Given the description of an element on the screen output the (x, y) to click on. 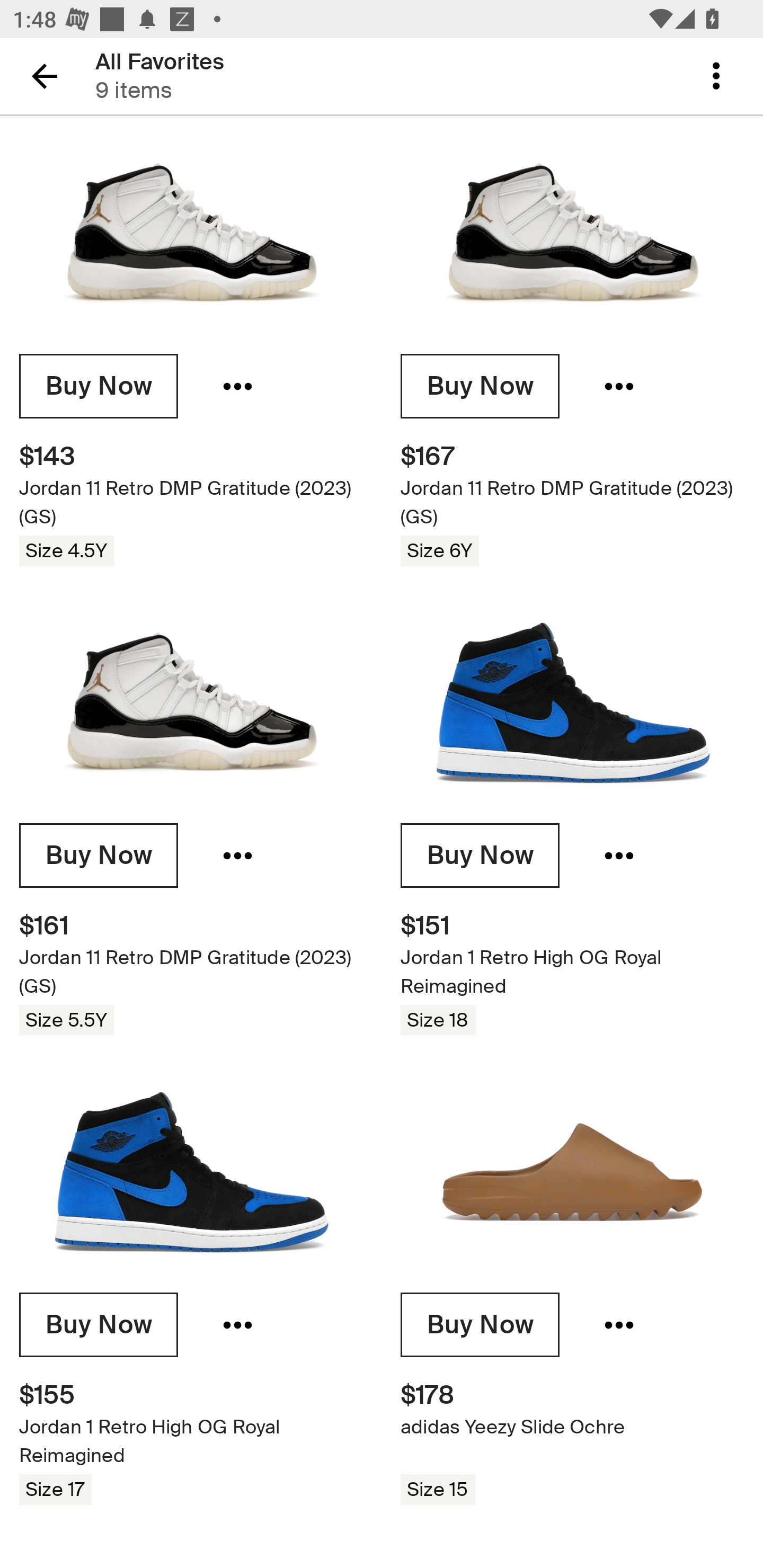
Buy Now (98, 386)
Buy Now (479, 386)
Buy Now (98, 854)
Buy Now (479, 854)
Buy Now (98, 1324)
Buy Now (479, 1324)
